Given the description of an element on the screen output the (x, y) to click on. 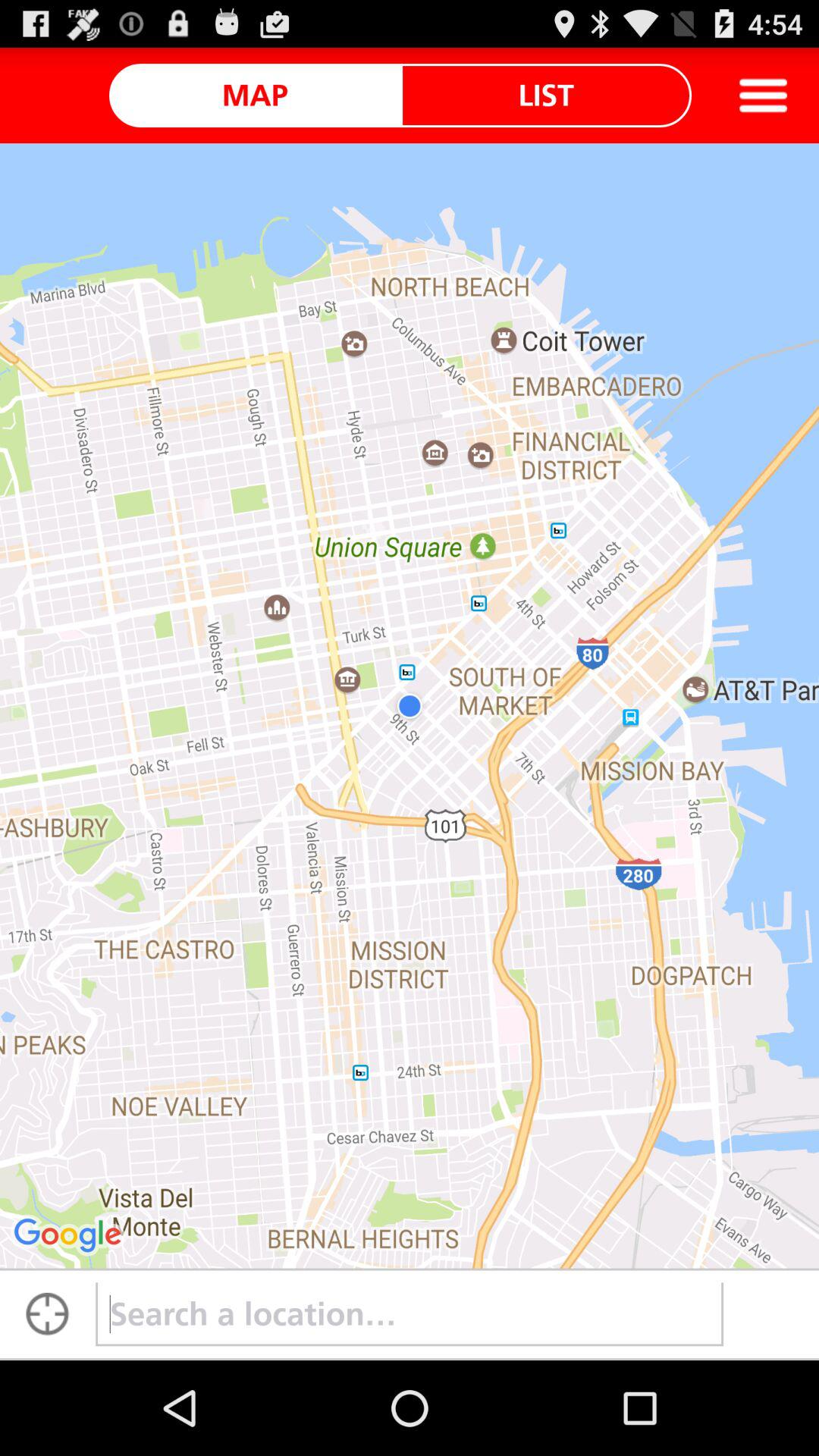
launch the list item (545, 95)
